Given the description of an element on the screen output the (x, y) to click on. 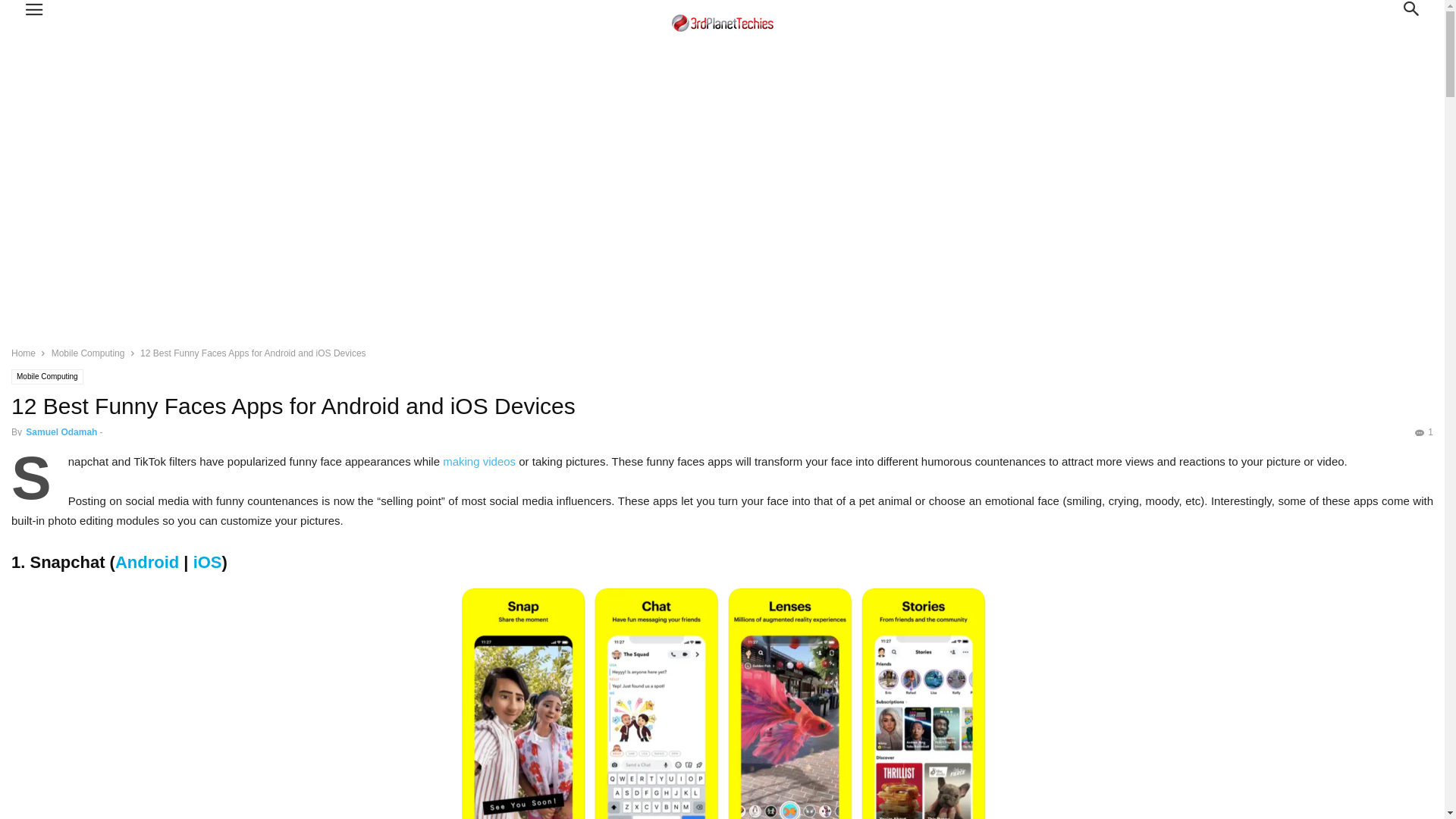
1 Element type: text (1424, 147)
Mobile Computing Element type: text (47, 92)
Snapchat is completely free Element type: text (994, 637)
Android Element type: text (146, 277)
Mobile Computing Element type: text (88, 68)
Samuel Odamah Element type: text (61, 147)
Search Element type: text (26, 11)
iOS Element type: text (207, 277)
making videos Element type: text (478, 176)
iOS Element type: text (364, 679)
Home Element type: text (23, 68)
Android Element type: text (304, 679)
